Given the description of an element on the screen output the (x, y) to click on. 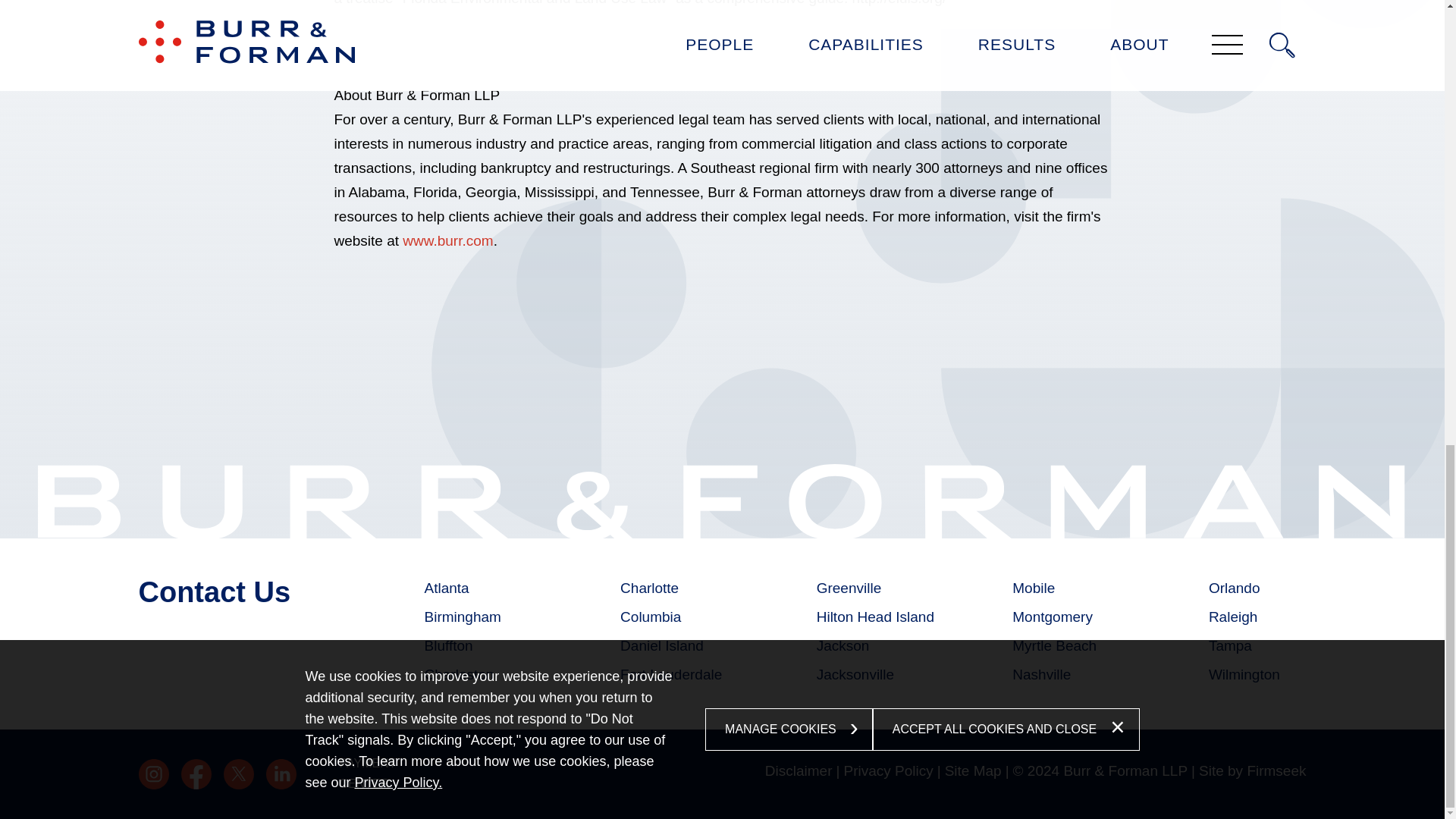
Linkedin (279, 774)
Facebook (195, 774)
Twitter (237, 774)
Instagram (153, 774)
